Given the description of an element on the screen output the (x, y) to click on. 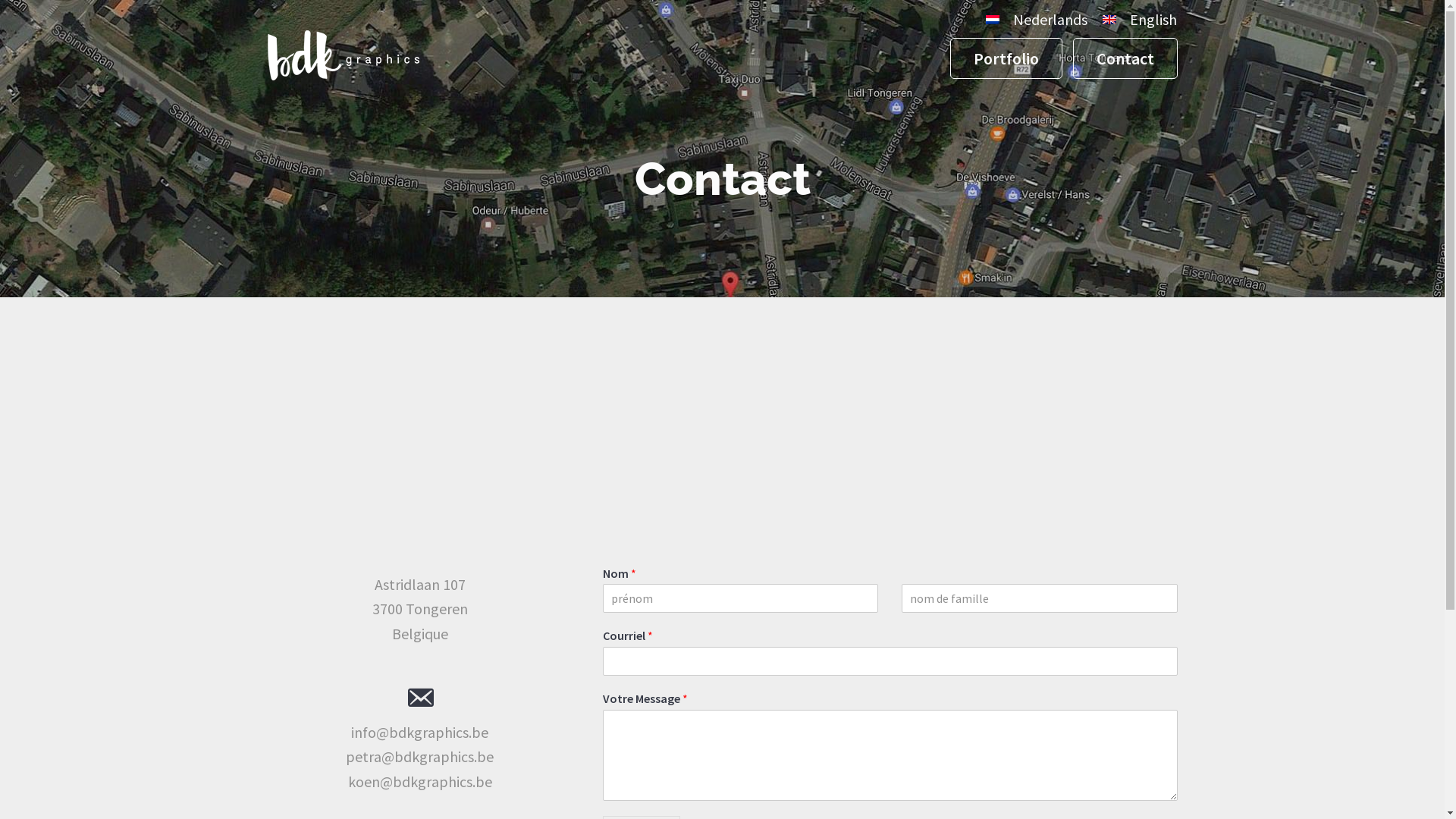
English Element type: text (1135, 20)
Skip to primary navigation Element type: text (0, 0)
Portfolio Element type: text (1005, 57)
Nederlands Element type: text (1032, 20)
www.bdkgraphics.be Element type: text (342, 71)
Nederlands Element type: hover (992, 19)
Contact Element type: text (1124, 57)
English Element type: hover (1109, 19)
